Given the description of an element on the screen output the (x, y) to click on. 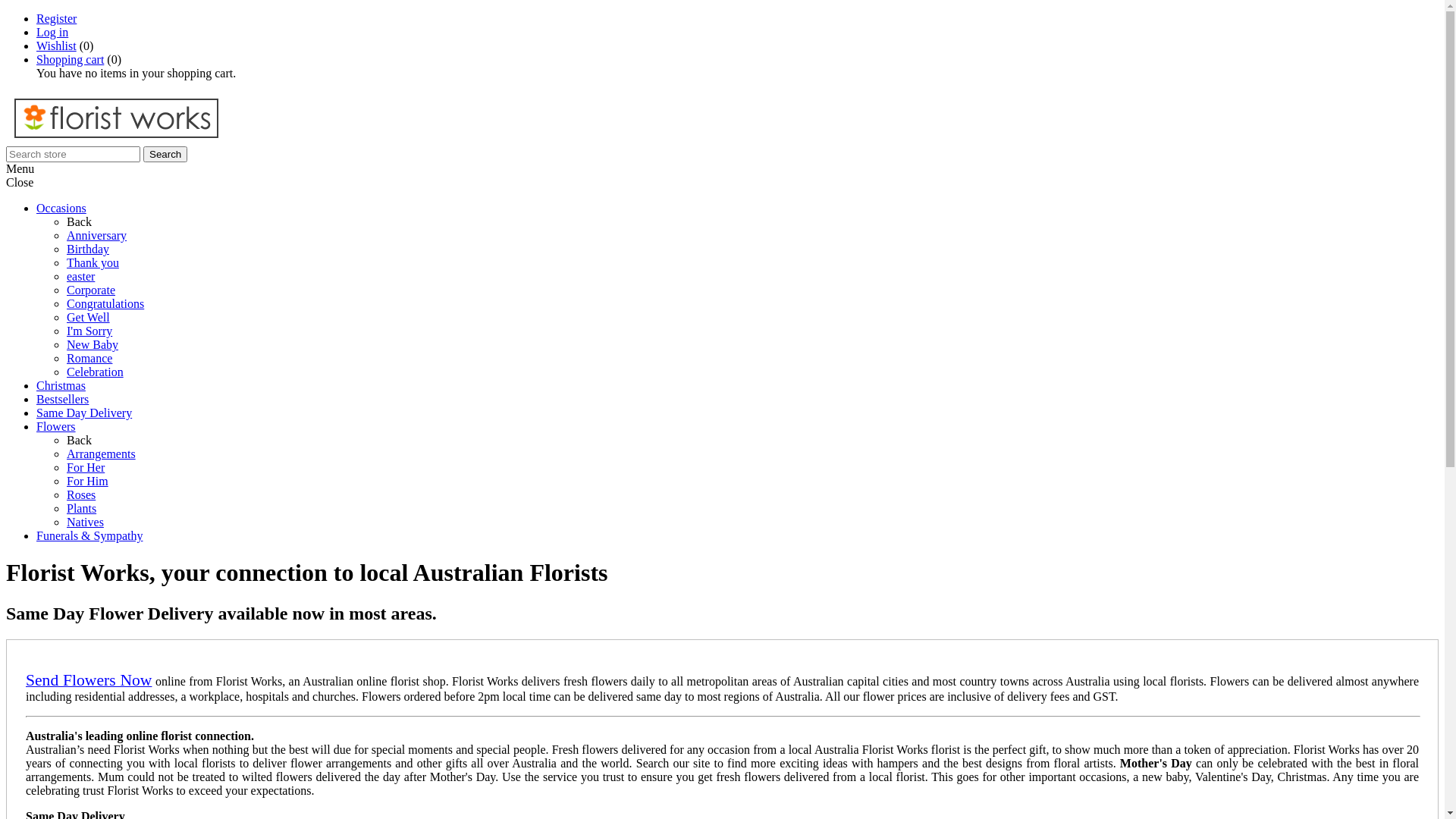
Log in Element type: text (52, 31)
Christmas Element type: text (60, 385)
Corporate Element type: text (90, 289)
Shopping cart Element type: text (69, 59)
Celebration Element type: text (94, 371)
Natives Element type: text (84, 521)
For Her Element type: text (85, 467)
Wishlist Element type: text (56, 45)
Anniversary Element type: text (96, 235)
Search Element type: text (165, 154)
Same Day Delivery Element type: text (83, 412)
Funerals & Sympathy Element type: text (89, 535)
For Him Element type: text (87, 480)
Birthday Element type: text (87, 248)
Bestsellers Element type: text (62, 398)
Roses Element type: text (80, 494)
easter Element type: text (80, 275)
Occasions Element type: text (61, 207)
I'm Sorry Element type: text (89, 330)
Congratulations Element type: text (105, 303)
Flowers Element type: text (55, 426)
Thank you Element type: text (92, 262)
New Baby Element type: text (92, 344)
Romance Element type: text (89, 357)
Register Element type: text (56, 18)
Arrangements Element type: text (100, 453)
Plants Element type: text (81, 508)
Send Flowers Now Element type: text (88, 680)
Get Well Element type: text (87, 316)
